Given the description of an element on the screen output the (x, y) to click on. 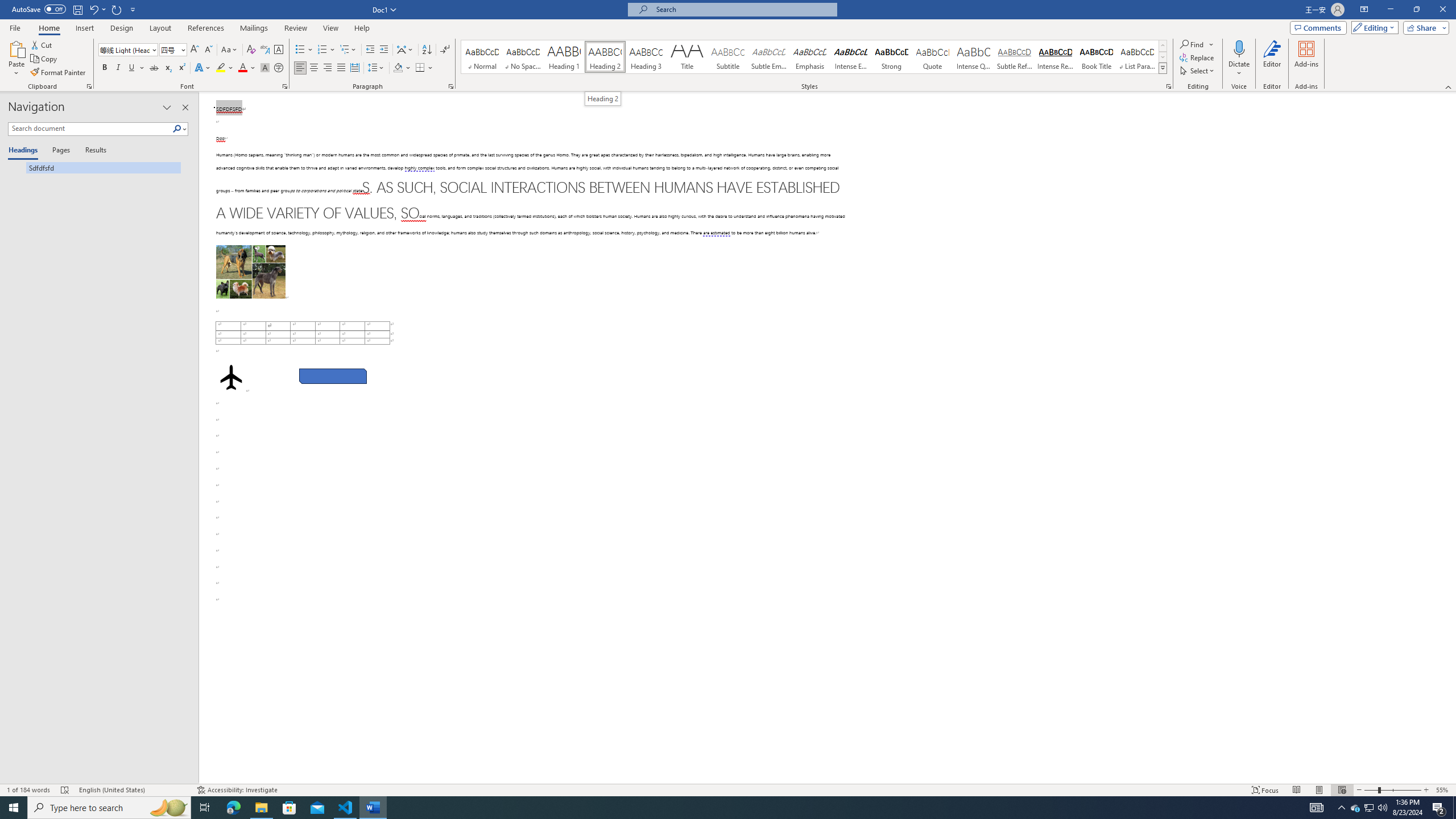
Subscript (167, 67)
Distributed (354, 67)
Center (313, 67)
Font... (285, 85)
Spelling and Grammar Check Errors (65, 790)
Superscript (180, 67)
Row up (1162, 45)
Bold (104, 67)
Intense Reference (1055, 56)
Paragraph... (450, 85)
